Given the description of an element on the screen output the (x, y) to click on. 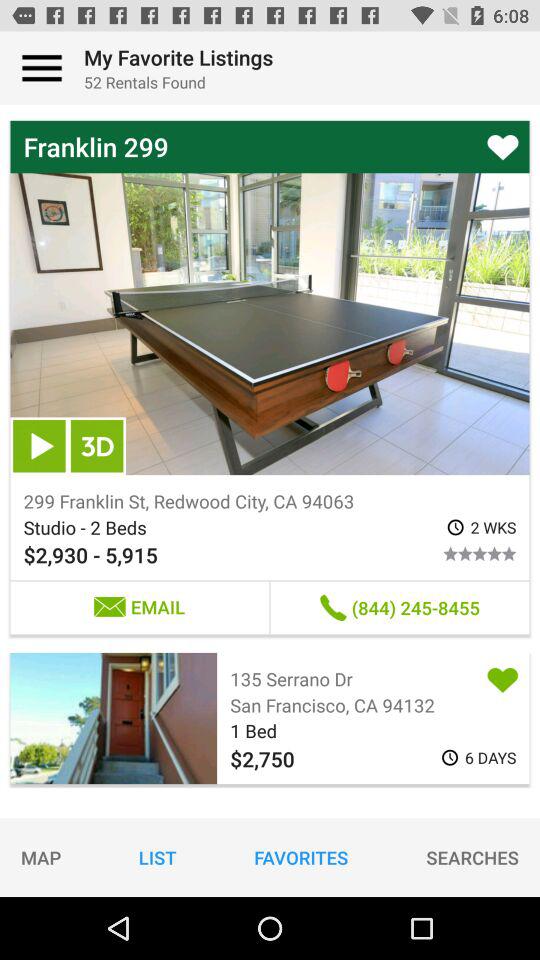
select the map (41, 857)
